Given the description of an element on the screen output the (x, y) to click on. 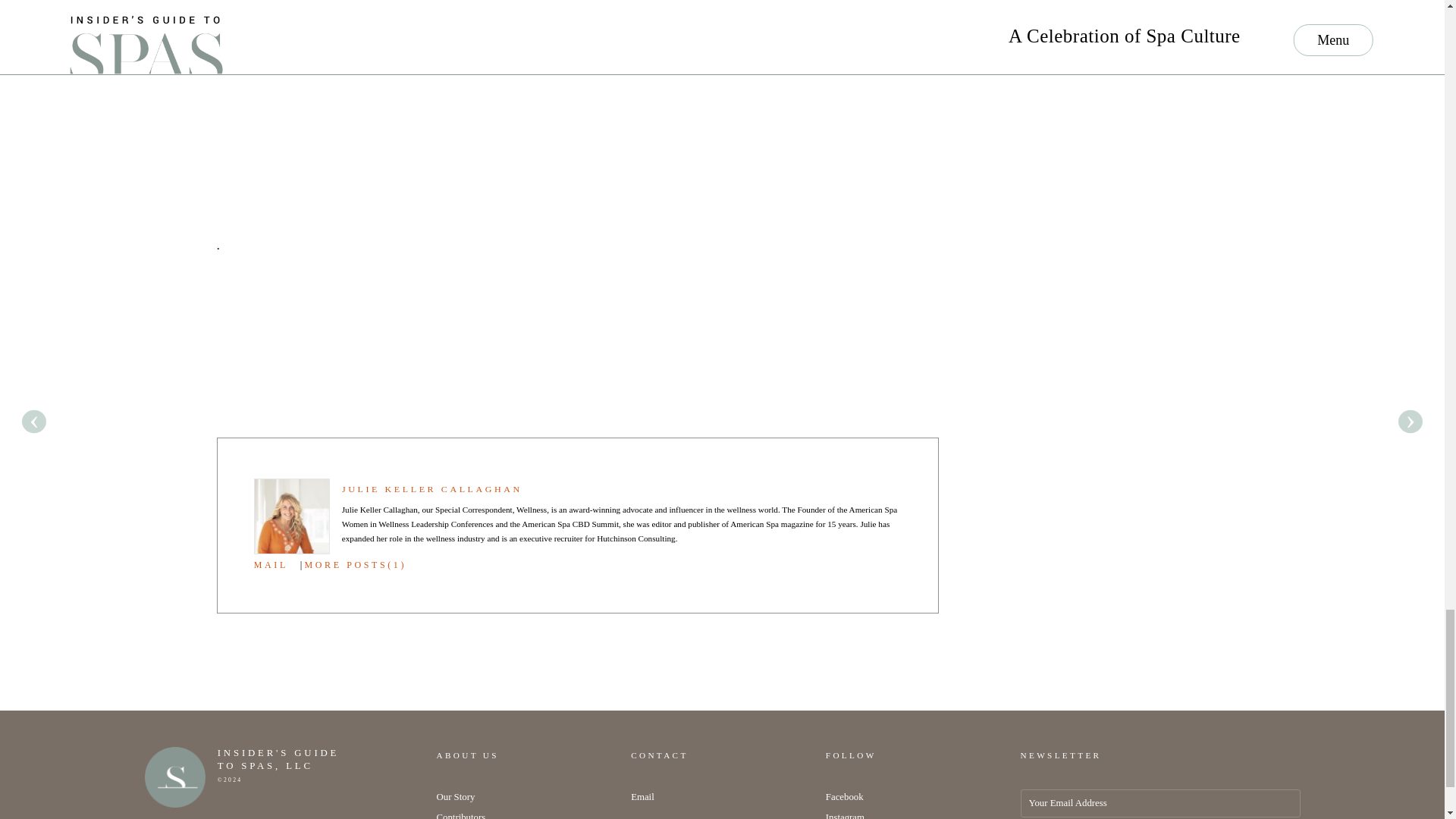
Our Story (456, 796)
JULIE KELLER CALLAGHAN (432, 489)
Send Julie Keller Callaghan Mail (270, 563)
Facebook (844, 796)
MAIL (270, 563)
More Posts By Julie Keller Callaghan (355, 563)
Email (641, 796)
Julie Keller Callaghan (432, 489)
